Given the description of an element on the screen output the (x, y) to click on. 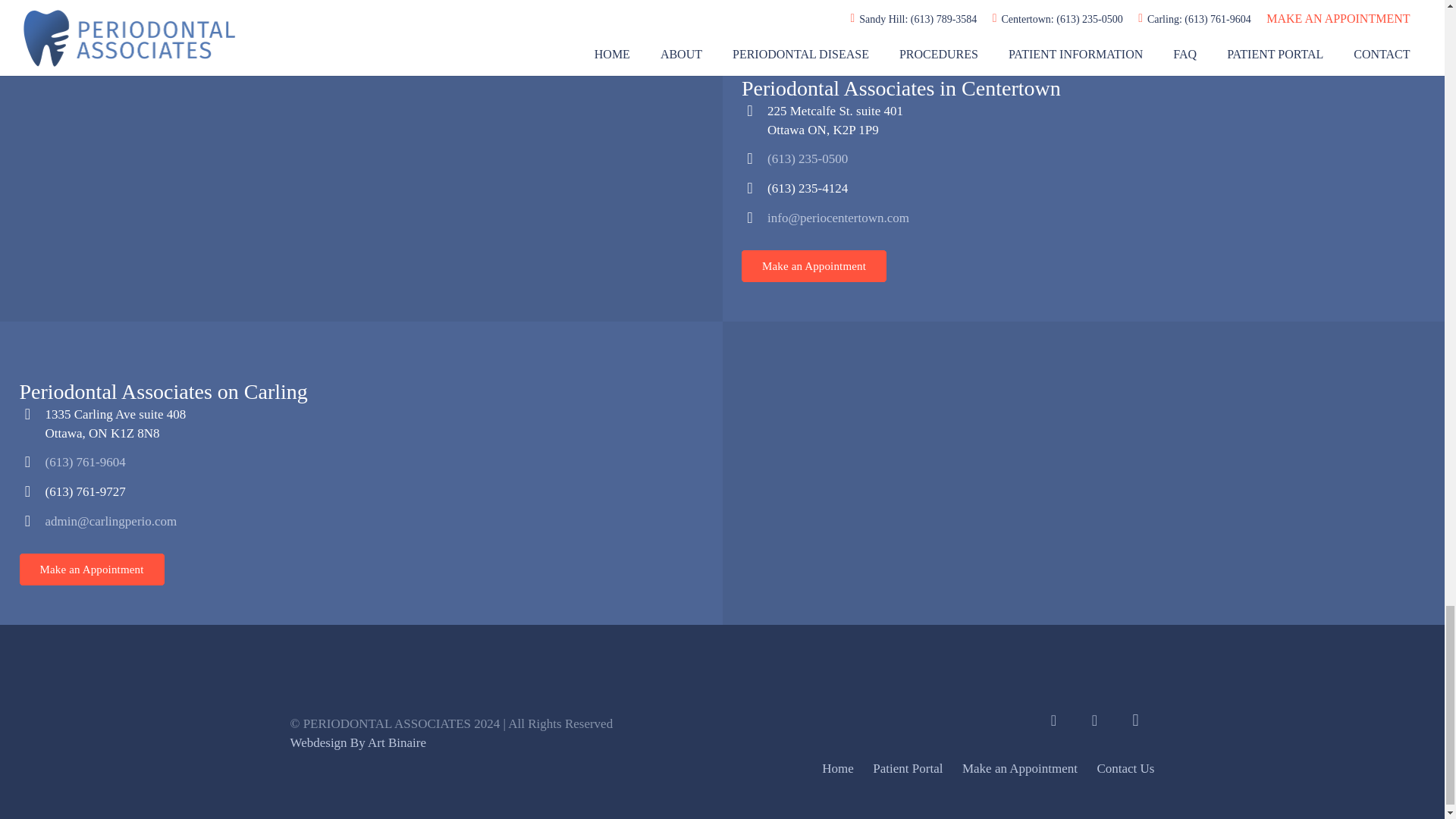
Email (1094, 720)
Instagram (1135, 720)
Facebook (1052, 720)
